Given the description of an element on the screen output the (x, y) to click on. 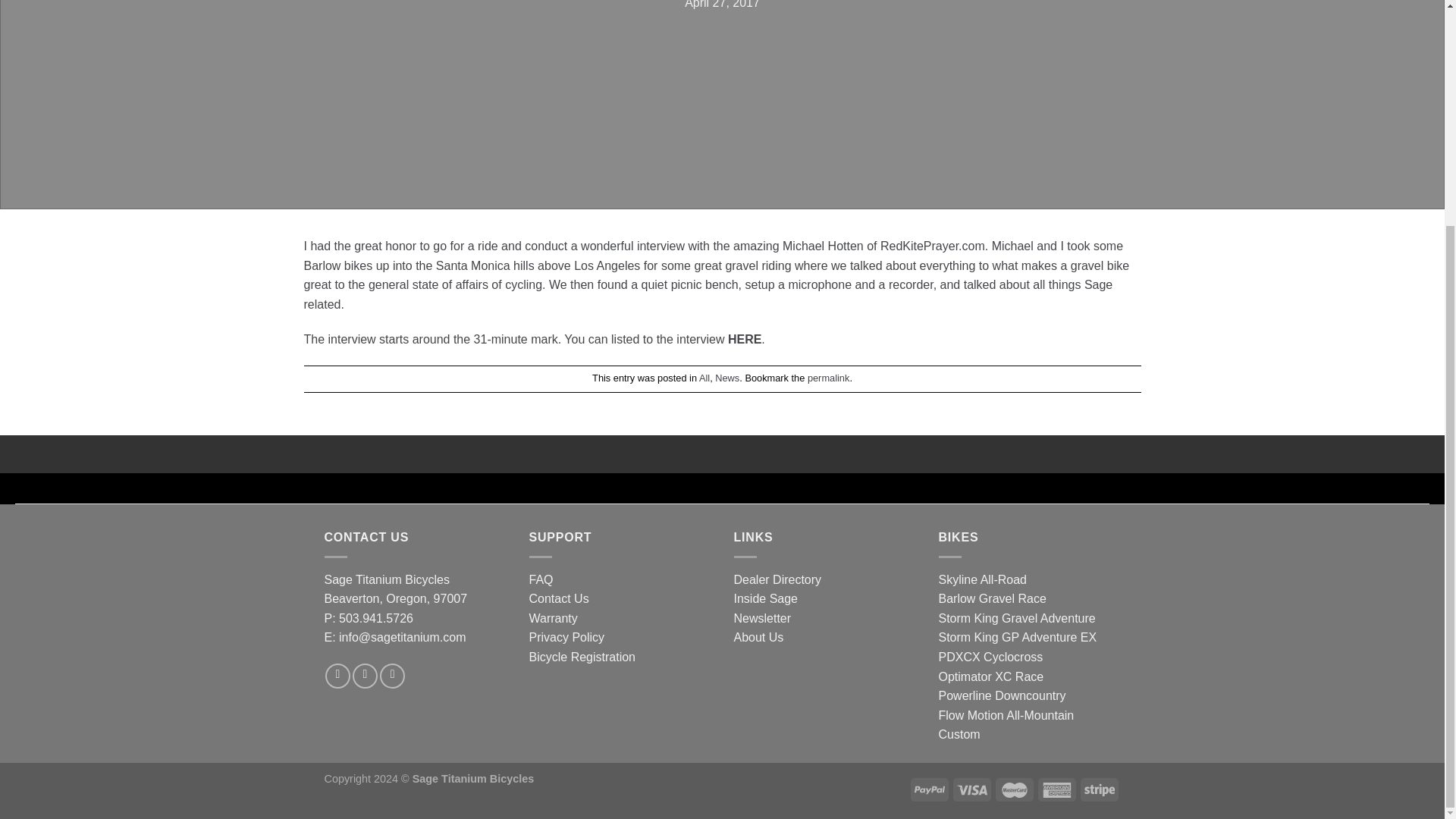
HERE (744, 338)
permalink (828, 378)
FAQ (541, 579)
Send us an email (392, 675)
News (726, 378)
Follow on Facebook (337, 675)
Follow on Instagram (364, 675)
All (704, 378)
Contact Us (559, 598)
